Given the description of an element on the screen output the (x, y) to click on. 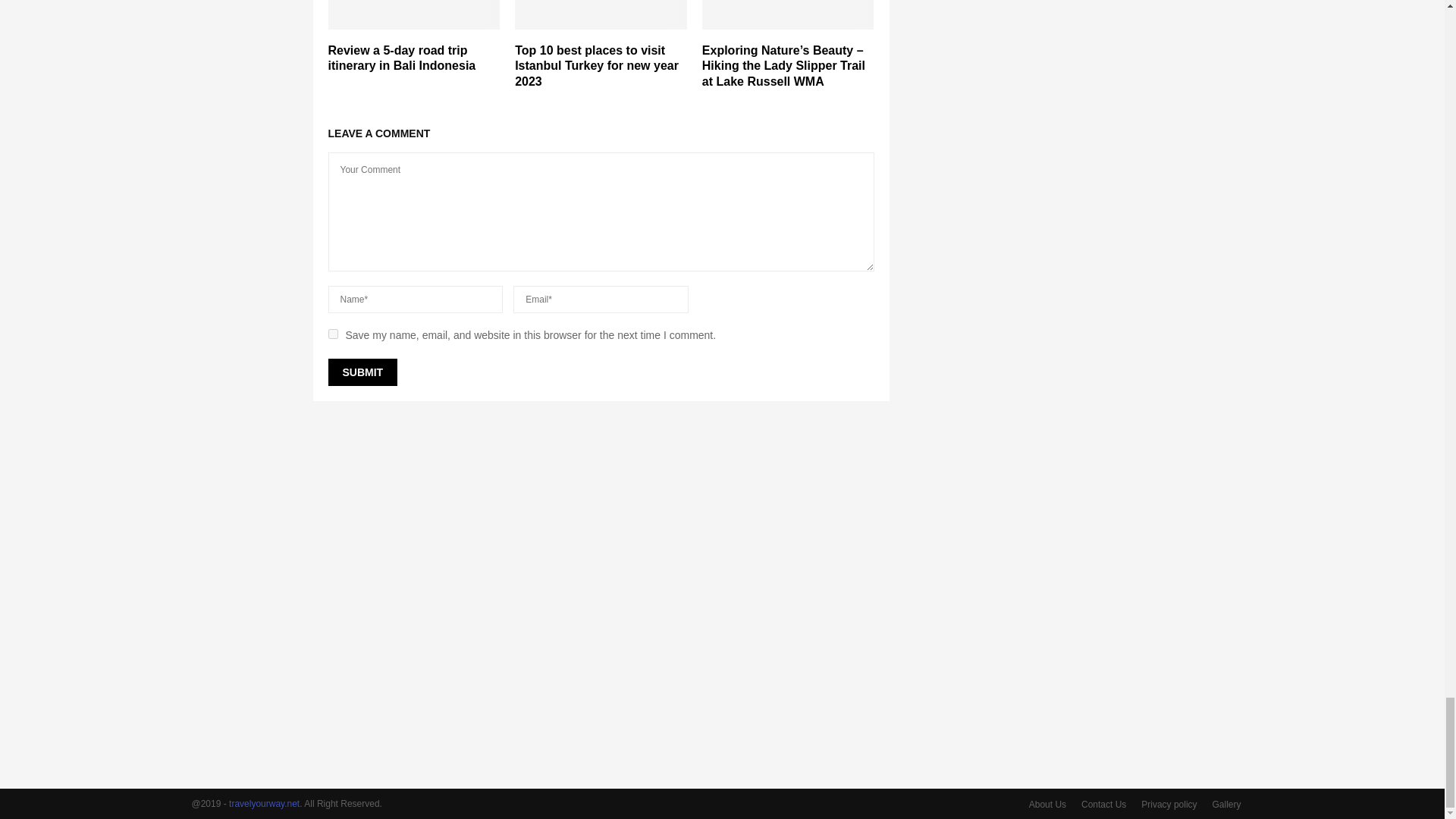
Submit (362, 371)
yes (332, 334)
